Given the description of an element on the screen output the (x, y) to click on. 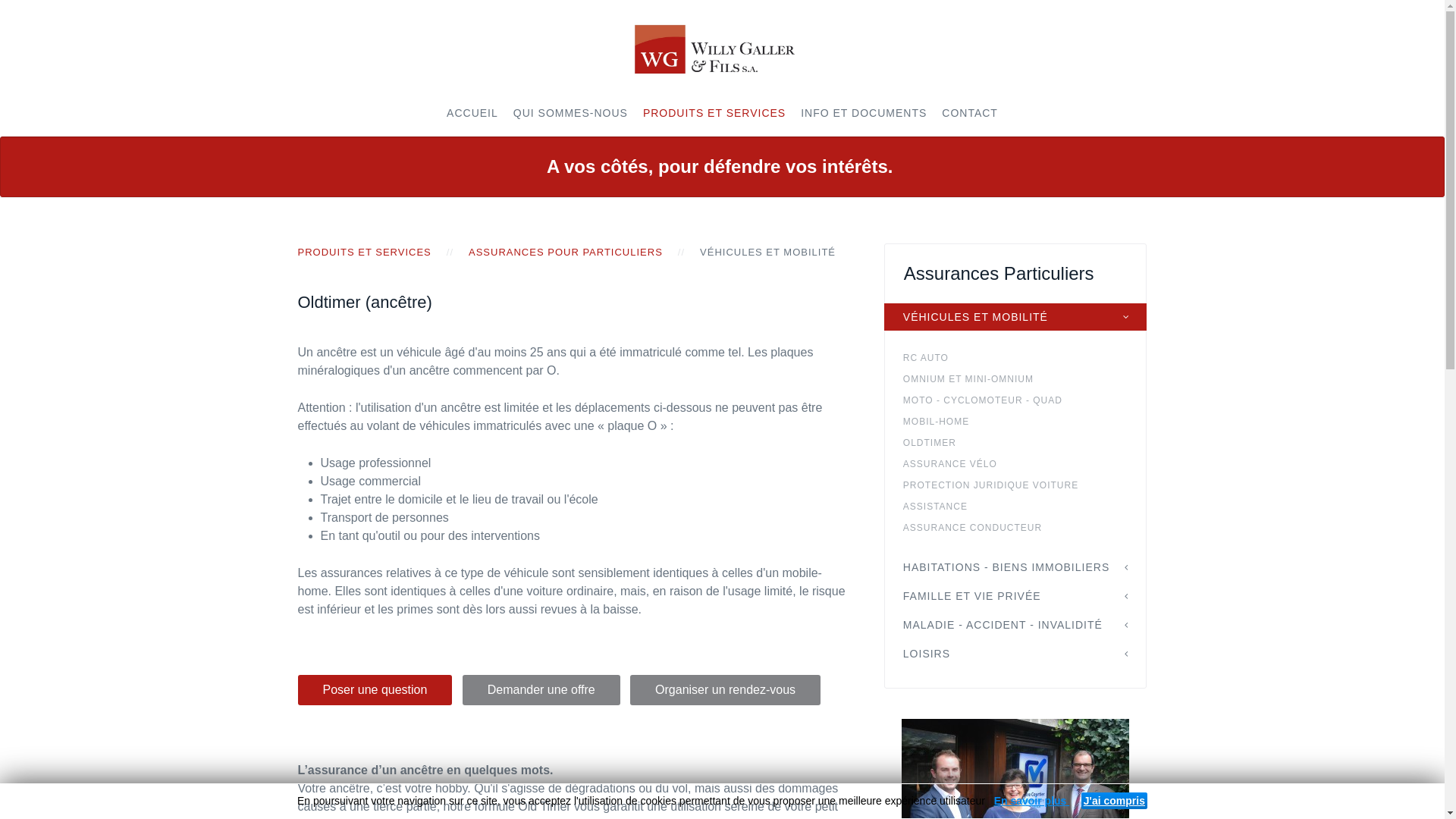
ASSURANCE CONDUCTEUR Element type: text (1025, 527)
LOISIRS Element type: text (1015, 653)
MOBIL-HOME Element type: text (1025, 421)
PRODUITS ET SERVICES Element type: text (363, 252)
QUI SOMMES-NOUS Element type: text (570, 112)
INFO ET DOCUMENTS Element type: text (863, 112)
Poser une question Element type: text (374, 689)
Demander une offre Element type: text (541, 688)
CONTACT Element type: text (969, 112)
ASSISTANCE Element type: text (1025, 506)
OMNIUM ET MINI-OMNIUM Element type: text (1025, 378)
PRODUITS ET SERVICES Element type: text (714, 112)
Organiser un rendez-vous Element type: text (725, 688)
ACCUEIL Element type: text (472, 112)
OLDTIMER Element type: text (1025, 442)
HABITATIONS - BIENS IMMOBILIERS Element type: text (1015, 566)
RC AUTO Element type: text (1025, 357)
MOTO - CYCLOMOTEUR - QUAD Element type: text (1025, 400)
Organiser un rendez-vous Element type: text (725, 689)
Poser une question Element type: text (374, 688)
Demander une offre Element type: text (541, 689)
ASSURANCES POUR PARTICULIERS Element type: text (565, 252)
PROTECTION JURIDIQUE VOITURE Element type: text (1025, 484)
